Given the description of an element on the screen output the (x, y) to click on. 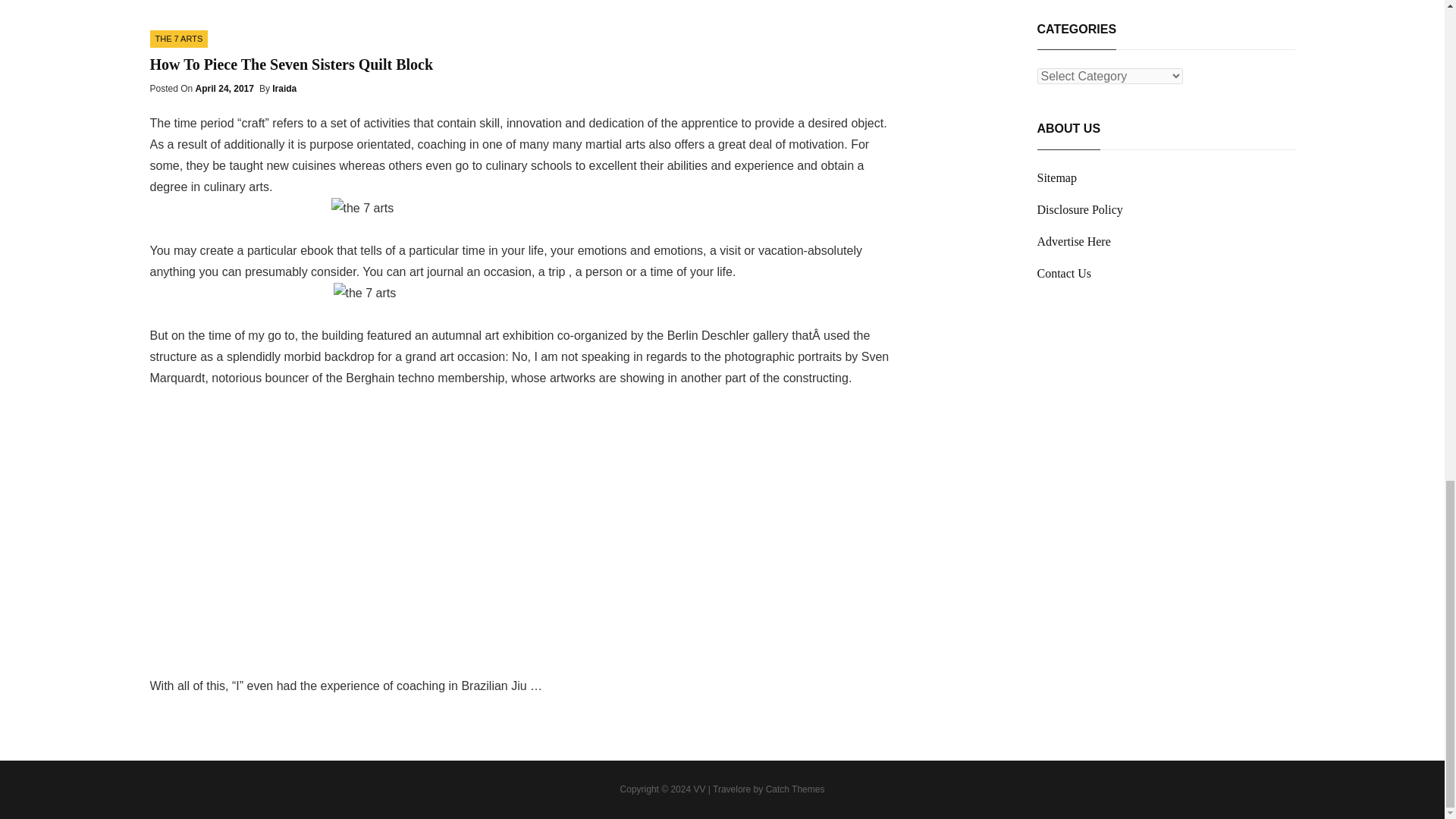
April 24, 2017 (224, 88)
THE 7 ARTS (178, 38)
How To Piece The Seven Sisters Quilt Block (291, 64)
Iraida (284, 88)
